Given the description of an element on the screen output the (x, y) to click on. 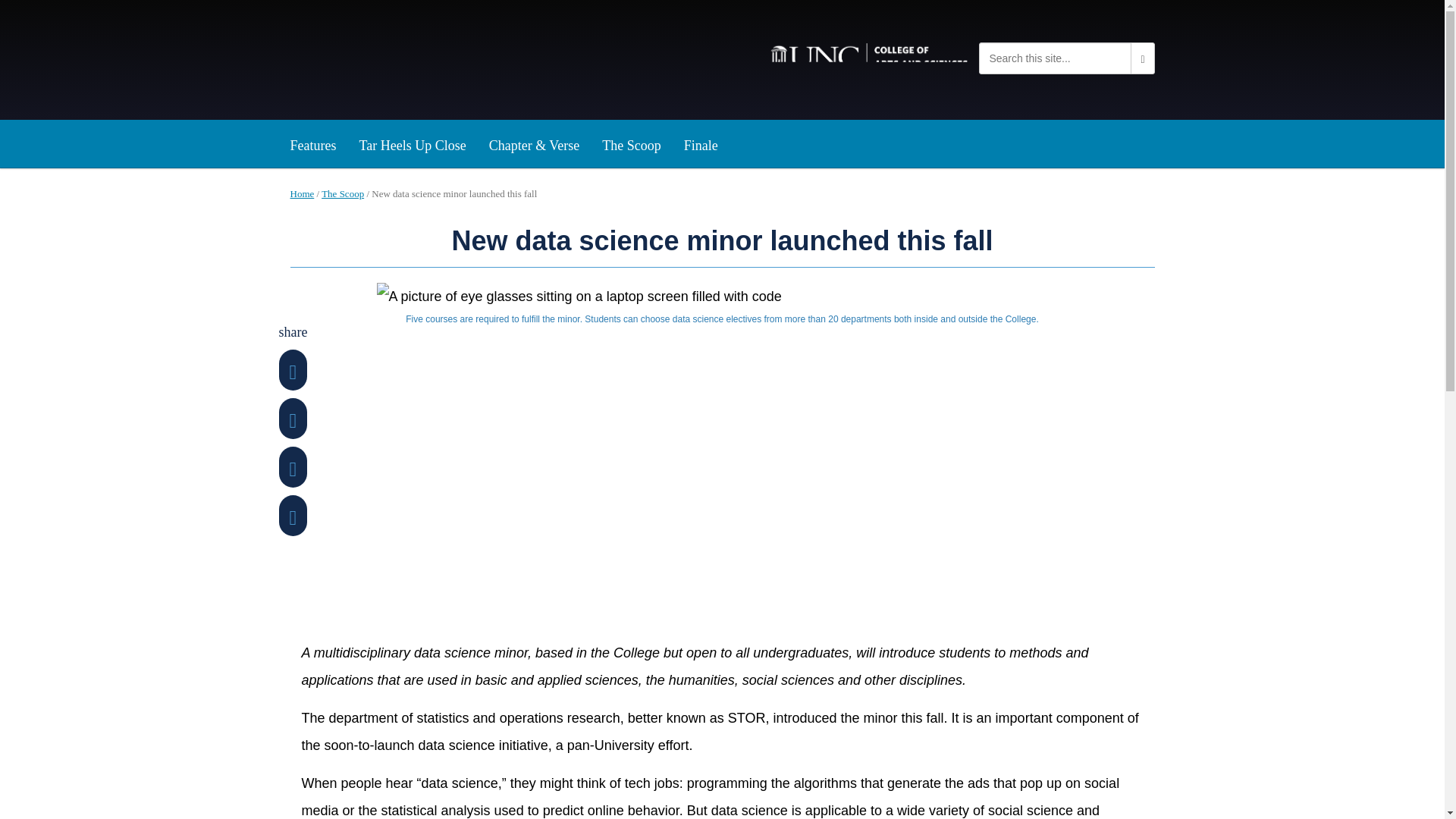
Home (301, 193)
Tar Heels Up Close (412, 139)
UNC College of Arts and Sciences (869, 55)
Features (313, 139)
Finale (700, 139)
The Scoop (342, 193)
The Scoop (631, 139)
